Given the description of an element on the screen output the (x, y) to click on. 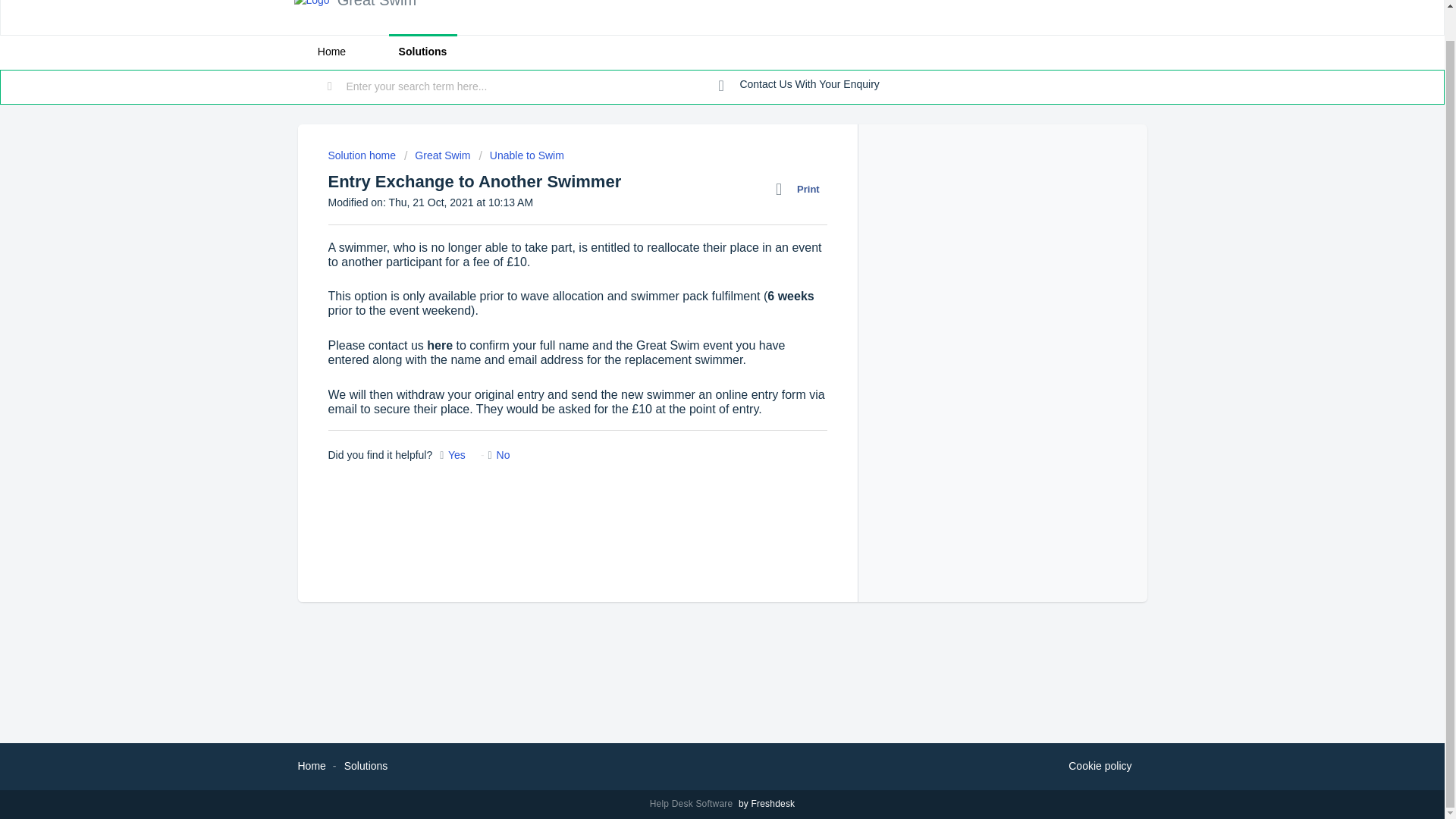
Print (801, 189)
Great Swim (437, 155)
Solutions (422, 51)
Solutions (365, 766)
New support ticket (799, 84)
Unable to Swim (521, 155)
Print this Article (801, 189)
Help Desk Software (693, 803)
Solution home (362, 155)
Home (331, 51)
